Given the description of an element on the screen output the (x, y) to click on. 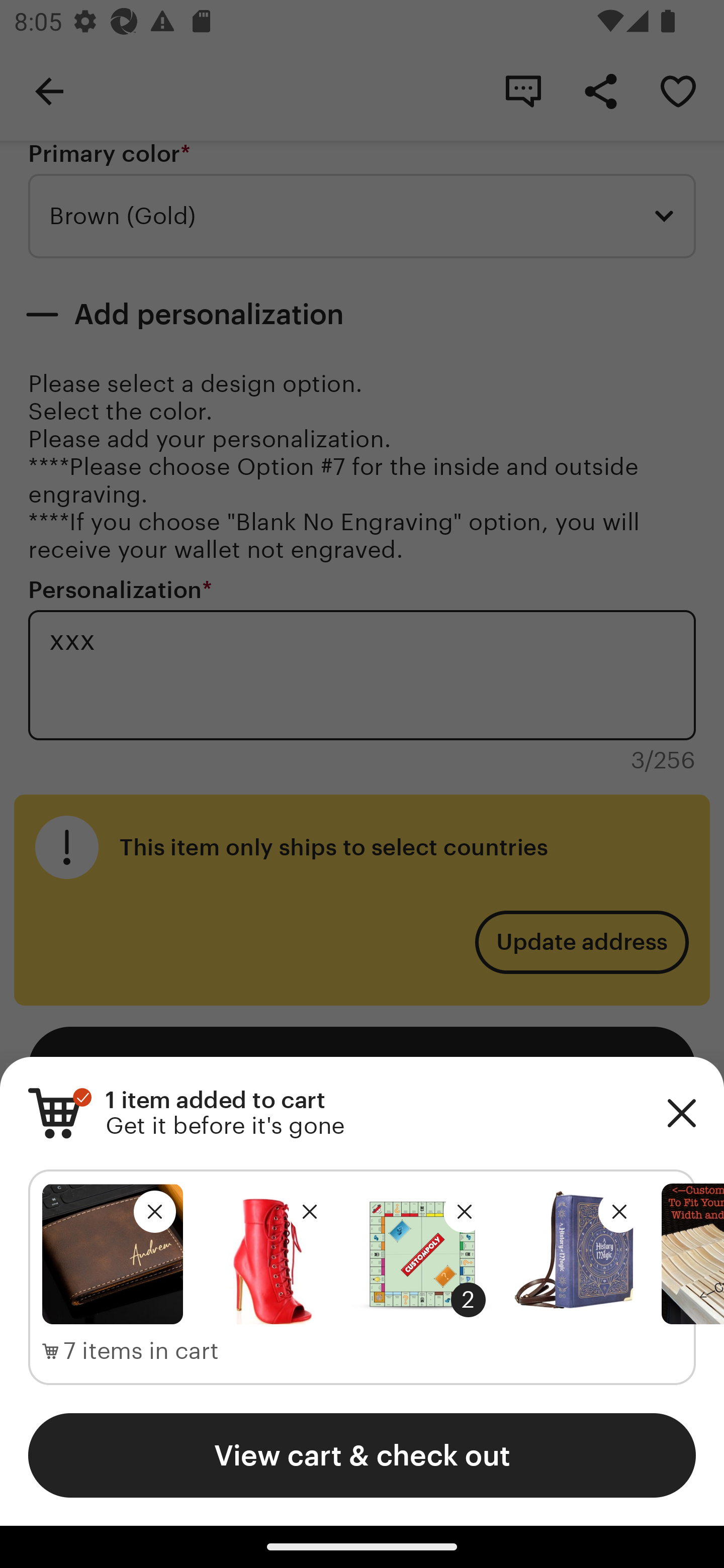
7 items in cart (130, 1351)
View cart & check out (361, 1454)
